Given the description of an element on the screen output the (x, y) to click on. 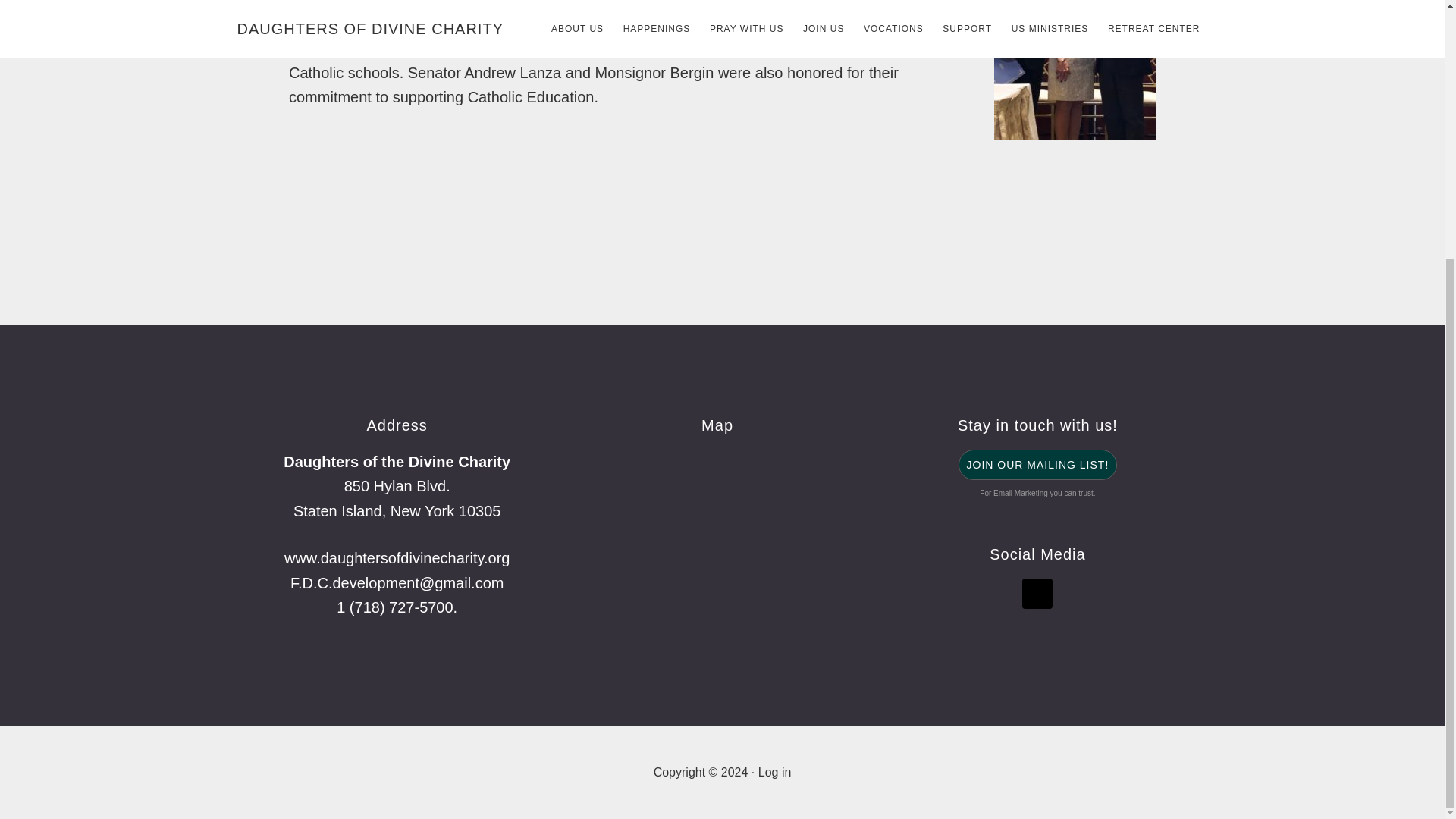
JOIN OUR MAILING LIST! (1038, 464)
Log in (775, 771)
www.daughtersofdivinecharity.org (397, 557)
